Given the description of an element on the screen output the (x, y) to click on. 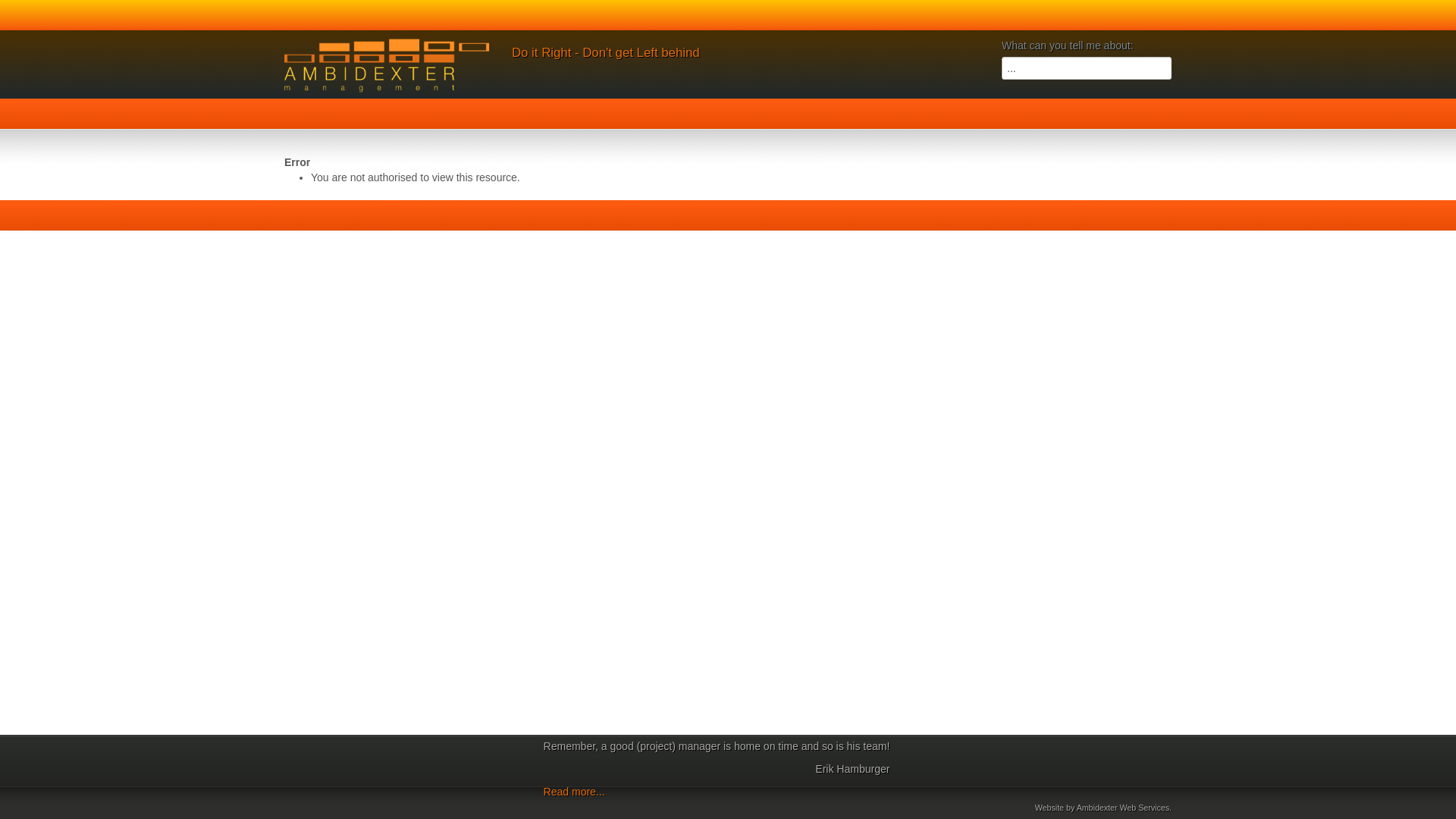
Do it Right - Don't get Left behind Element type: text (605, 52)
Read more... Element type: text (574, 791)
